Given the description of an element on the screen output the (x, y) to click on. 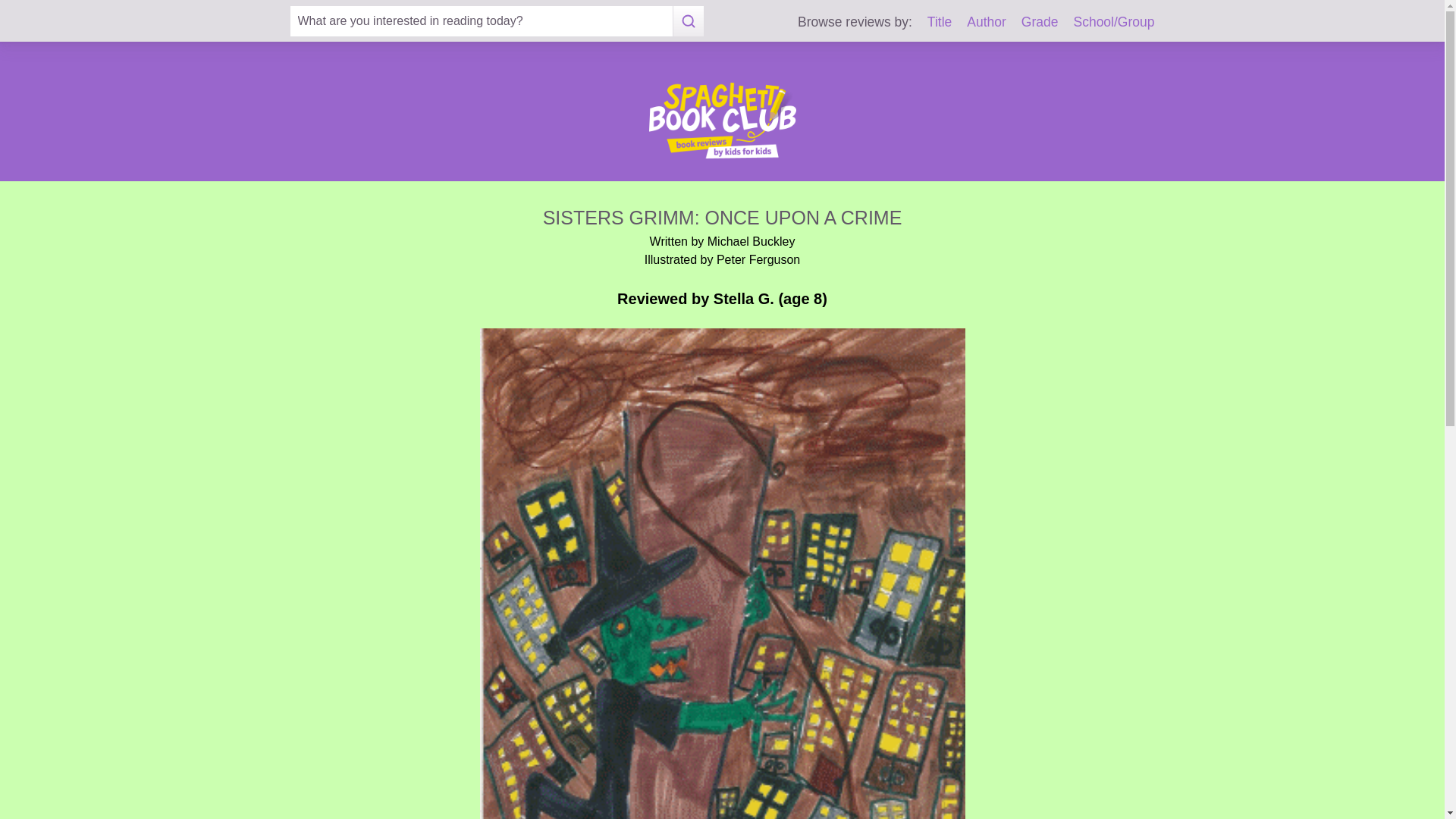
Title (939, 21)
Author (986, 21)
Grade (1040, 21)
